Given the description of an element on the screen output the (x, y) to click on. 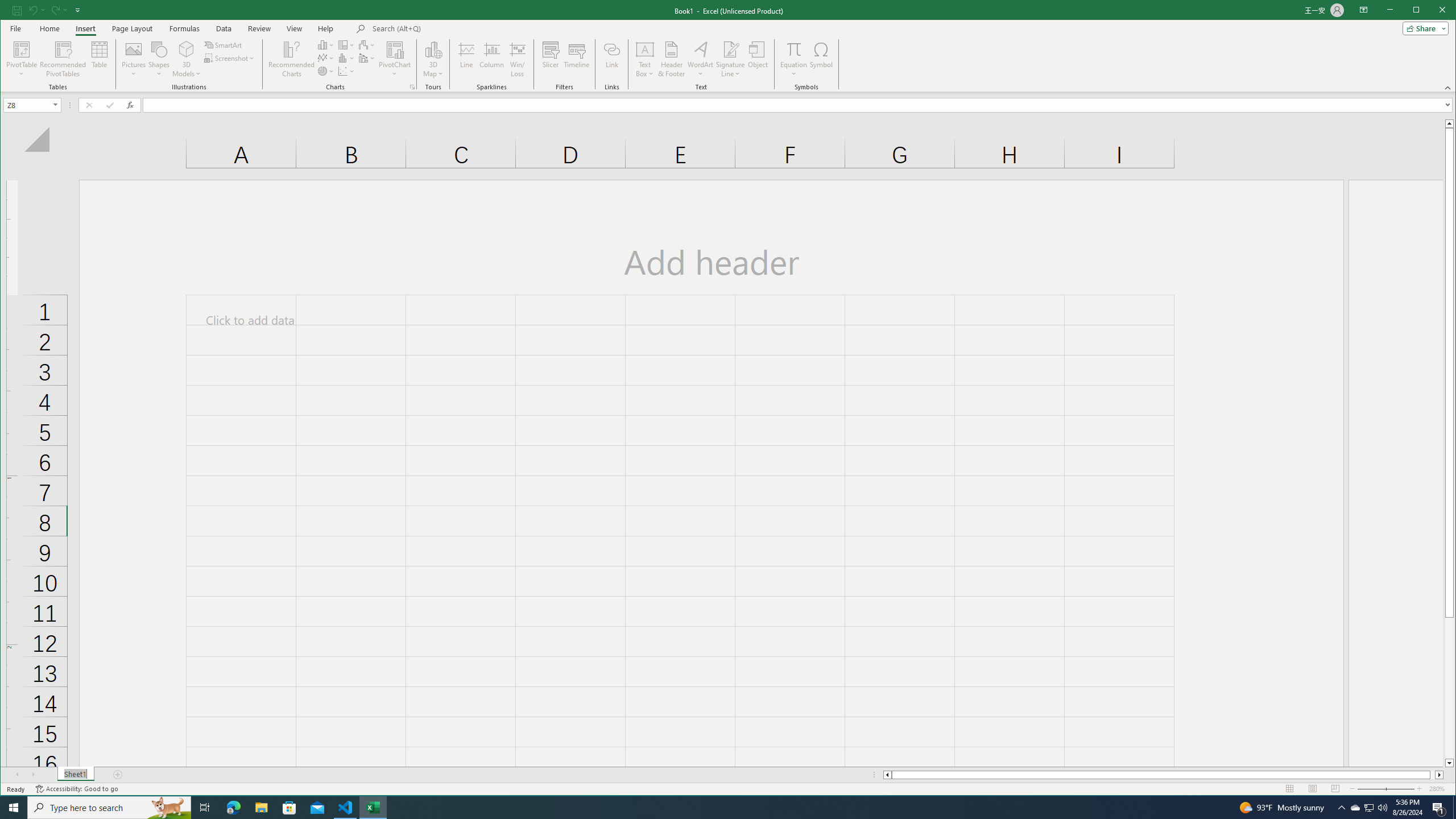
PivotTable (22, 48)
3D Models (186, 59)
SmartArt... (224, 44)
Signature Line (729, 59)
Microsoft Edge (233, 807)
Screenshot (229, 57)
Task View (204, 807)
Insert Combo Chart (366, 57)
User Promoted Notification Area (1368, 807)
